Given the description of an element on the screen output the (x, y) to click on. 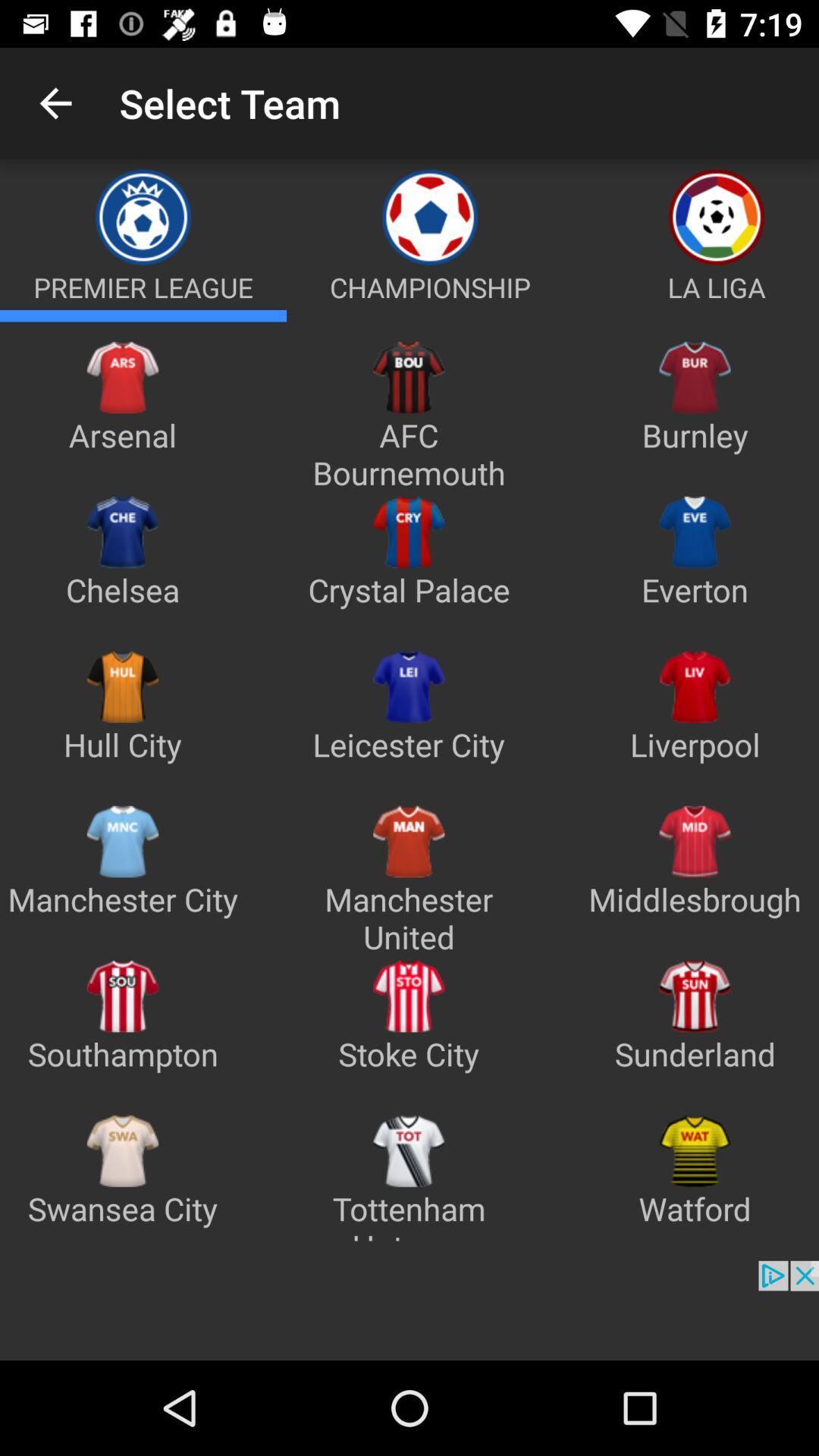
la liga section (696, 315)
